Given the description of an element on the screen output the (x, y) to click on. 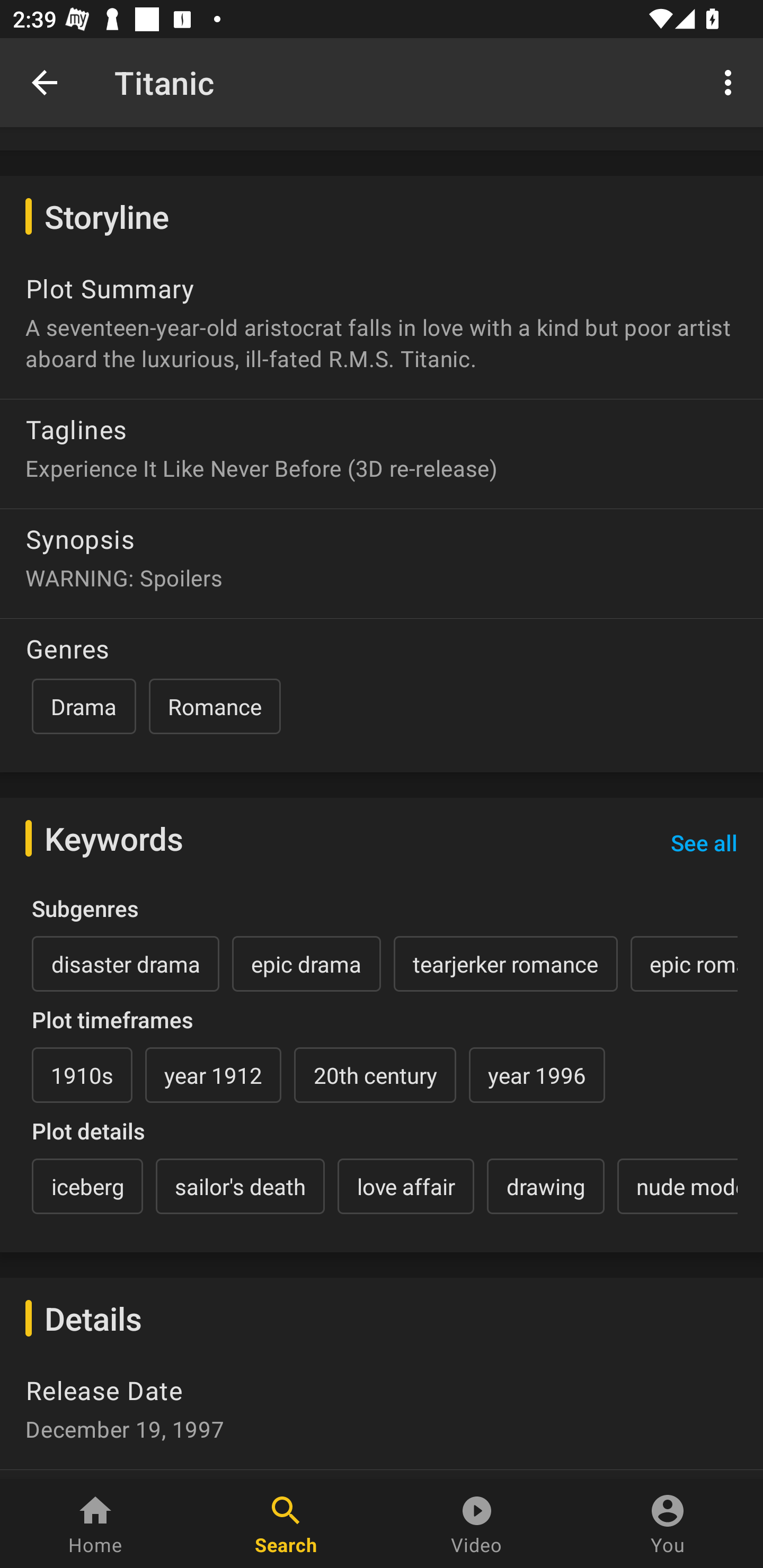
More options (731, 81)
Synopsis WARNING: Spoilers (381, 556)
Drama (83, 705)
Romance (214, 705)
See all See all Keywords (703, 842)
disaster drama (125, 963)
epic drama (305, 963)
tearjerker romance (505, 963)
epic romance (683, 963)
1910s (82, 1074)
year 1912 (212, 1074)
20th century (374, 1074)
year 1996 (537, 1074)
iceberg (87, 1185)
sailor's death (240, 1185)
love affair (405, 1185)
drawing (545, 1185)
nude modeling (677, 1185)
Release Date December 19, 1997 (381, 1414)
Home (95, 1523)
Video (476, 1523)
You (667, 1523)
